Given the description of an element on the screen output the (x, y) to click on. 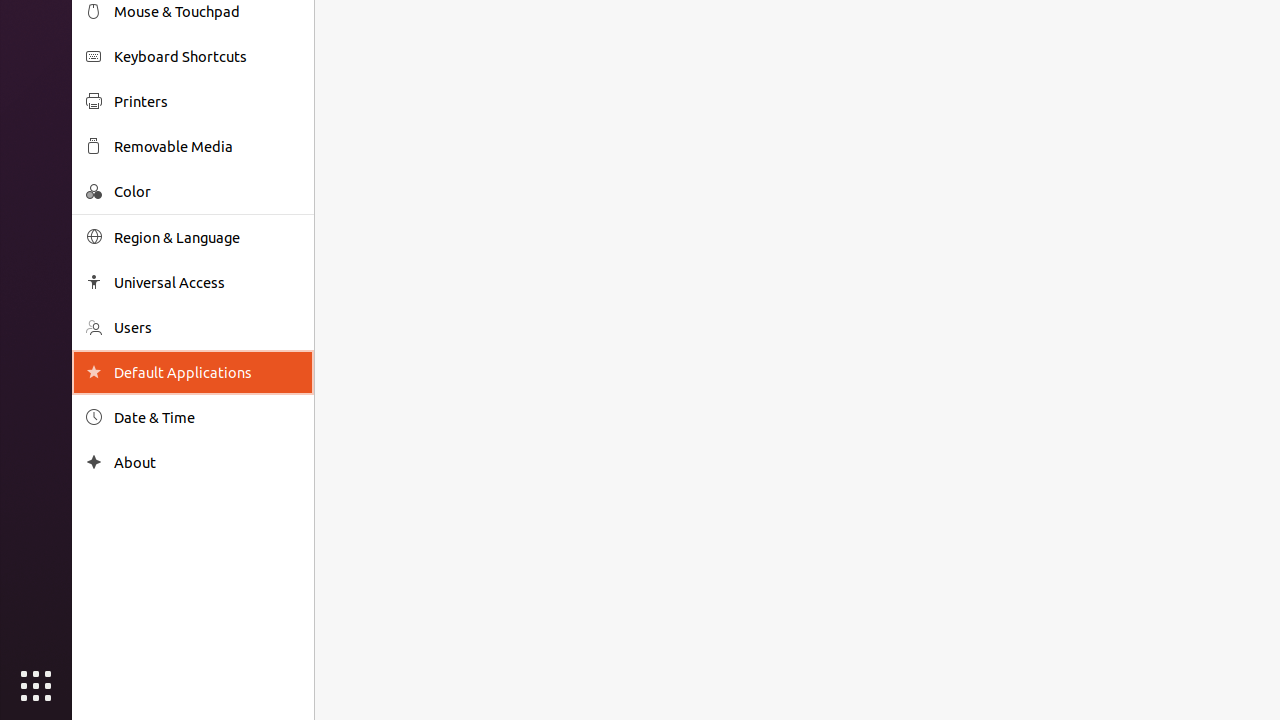
Keyboard Shortcuts Element type: label (207, 56)
Universal Access Element type: label (207, 282)
